Given the description of an element on the screen output the (x, y) to click on. 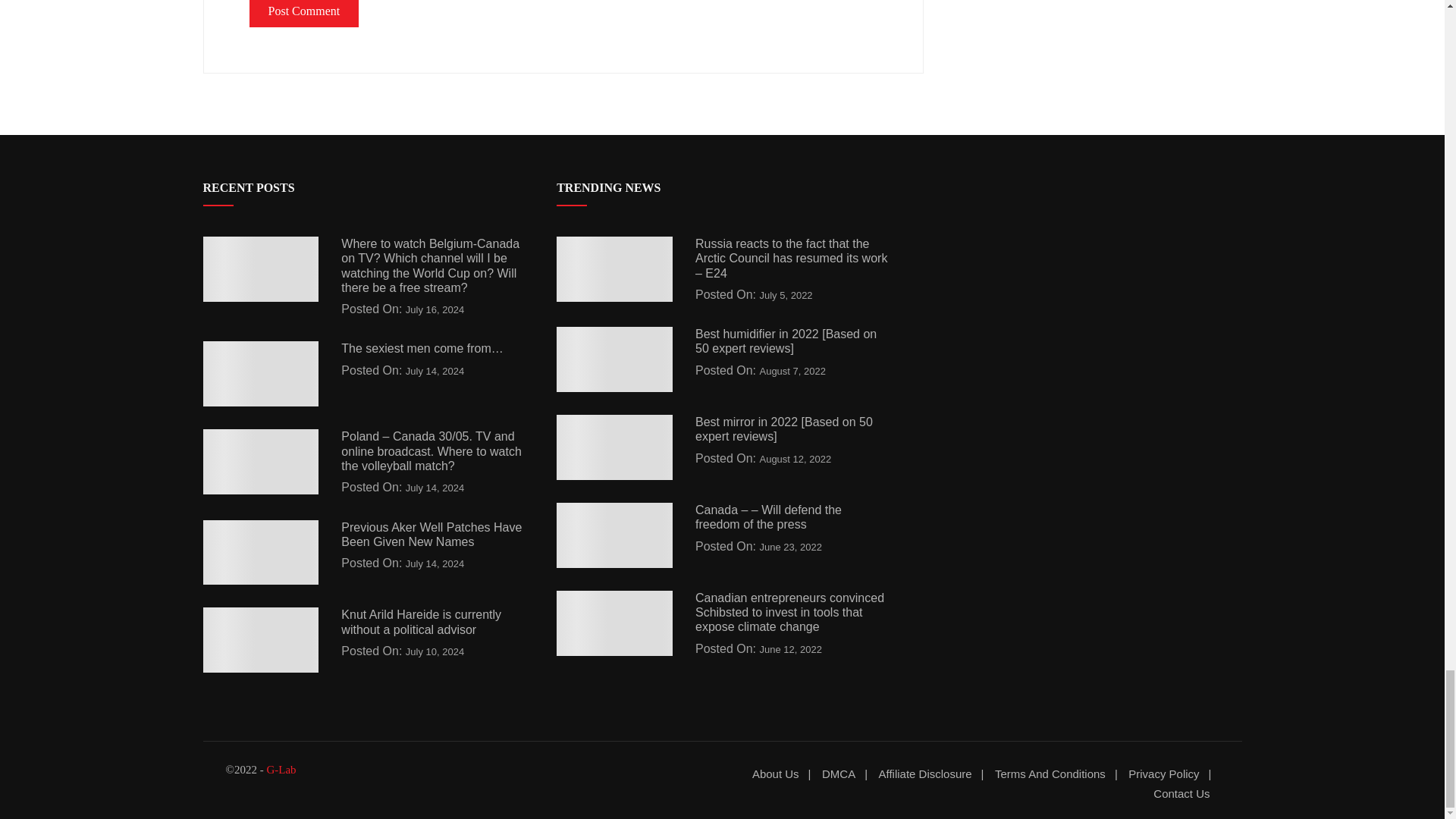
Post Comment (303, 13)
